Given the description of an element on the screen output the (x, y) to click on. 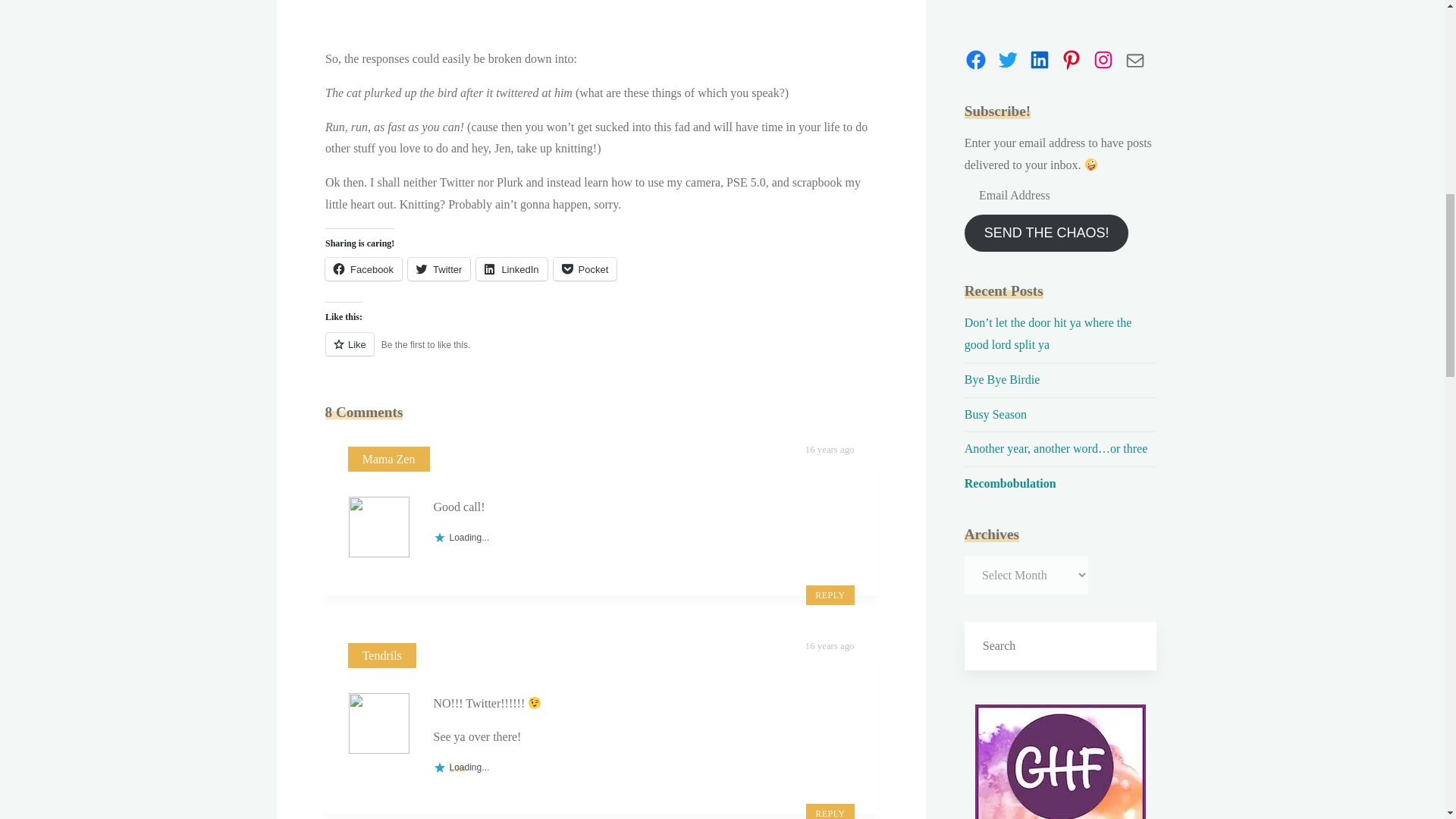
Tendrils (381, 655)
Click to share on Facebook (362, 268)
Facebook (362, 268)
16 years ago (829, 645)
REPLY (829, 811)
16 years ago (829, 449)
Pocket (584, 268)
Click to share on LinkedIn (511, 268)
Click to share on Pocket (584, 268)
REPLY (829, 595)
Click to share on Twitter (438, 268)
Like or Reblog (600, 352)
LinkedIn (511, 268)
Twitter (438, 268)
Mama Zen (388, 459)
